Given the description of an element on the screen output the (x, y) to click on. 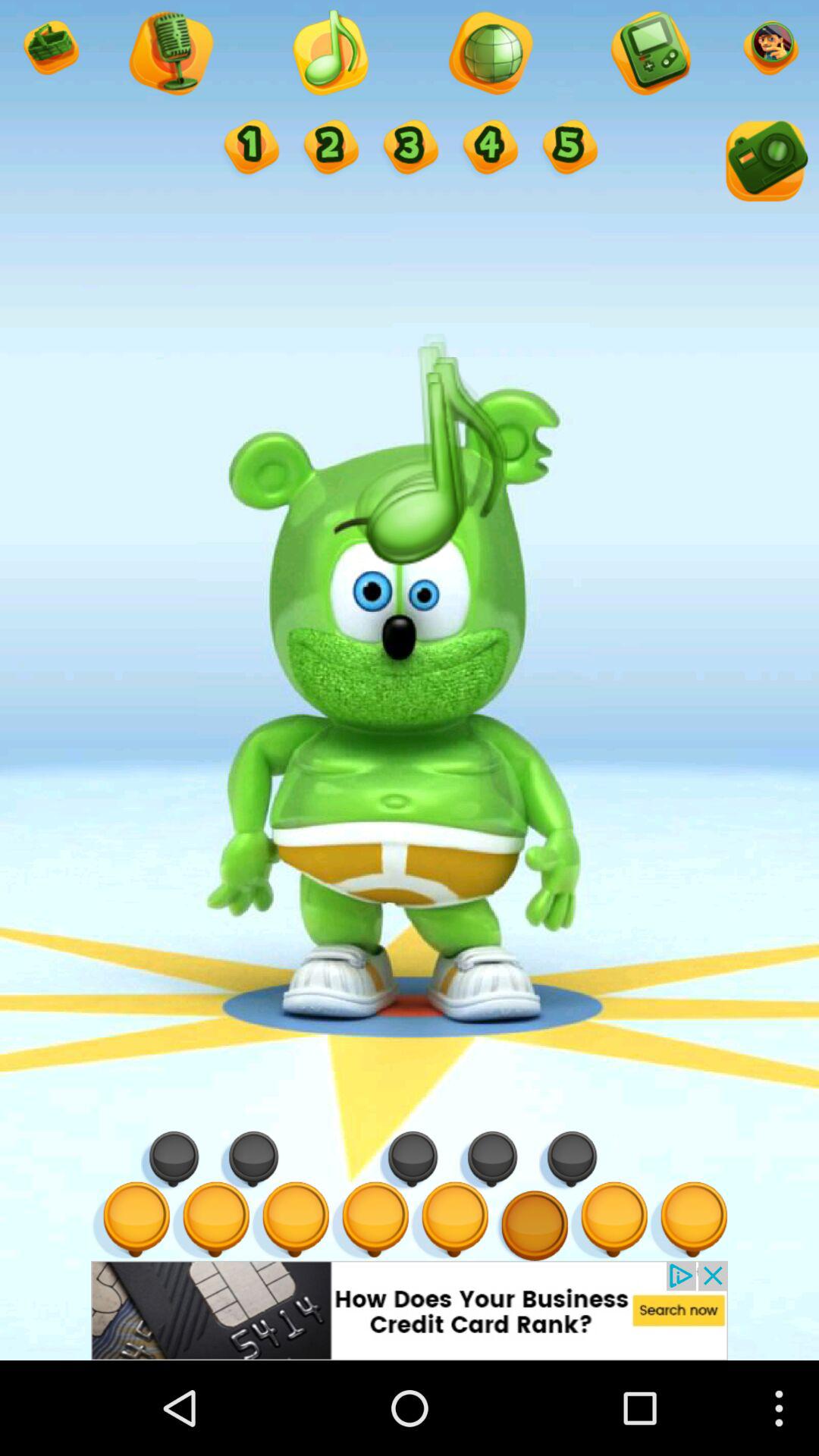
play a song (329, 55)
